Given the description of an element on the screen output the (x, y) to click on. 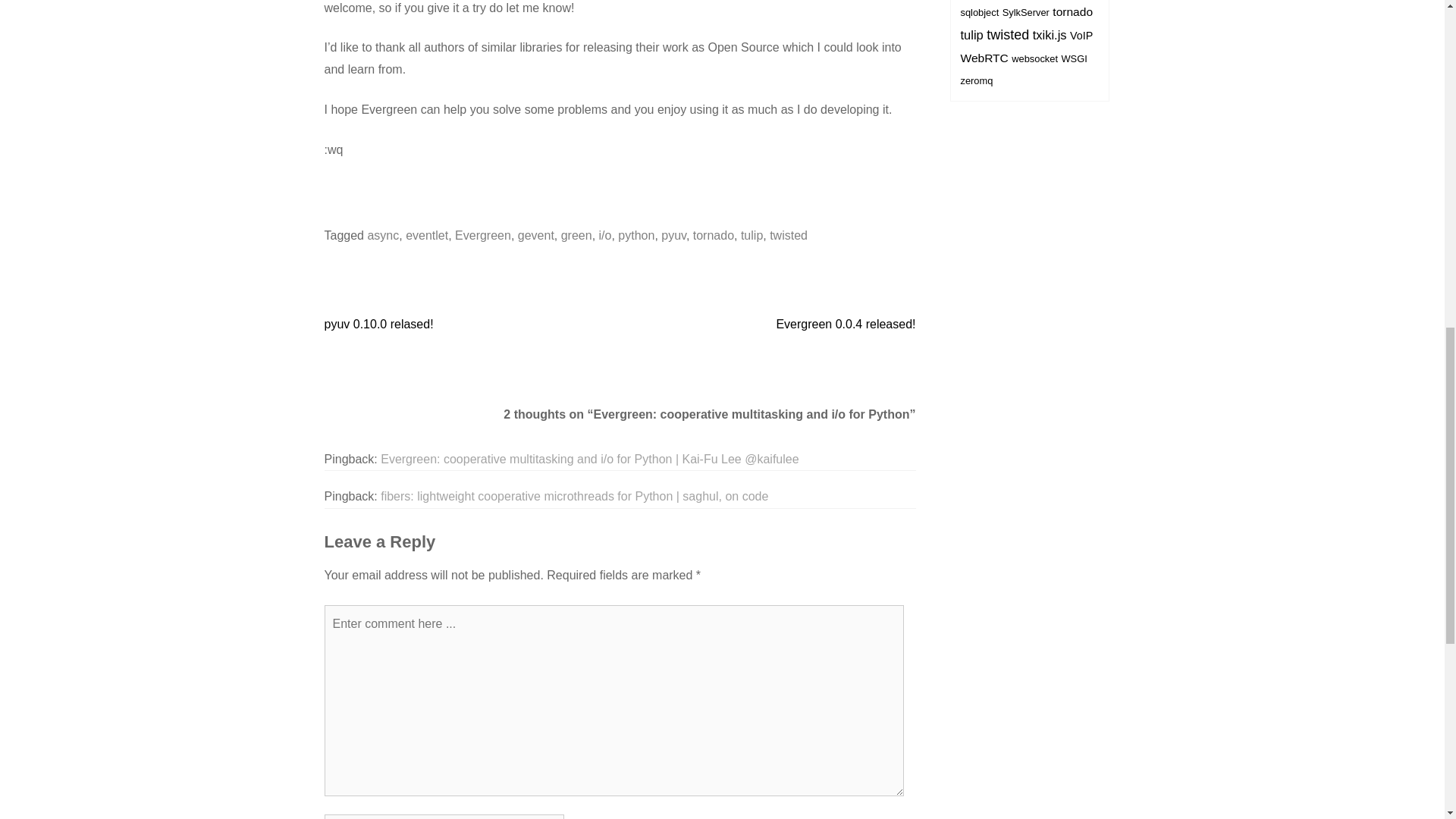
pyuv 0.10.0 relased! (378, 323)
tulip (751, 235)
pyuv (673, 235)
green (576, 235)
async (382, 235)
twisted (789, 235)
tornado (713, 235)
Evergreen 0.0.4 released! (845, 323)
eventlet (427, 235)
python (635, 235)
gevent (536, 235)
Evergreen (482, 235)
